Given the description of an element on the screen output the (x, y) to click on. 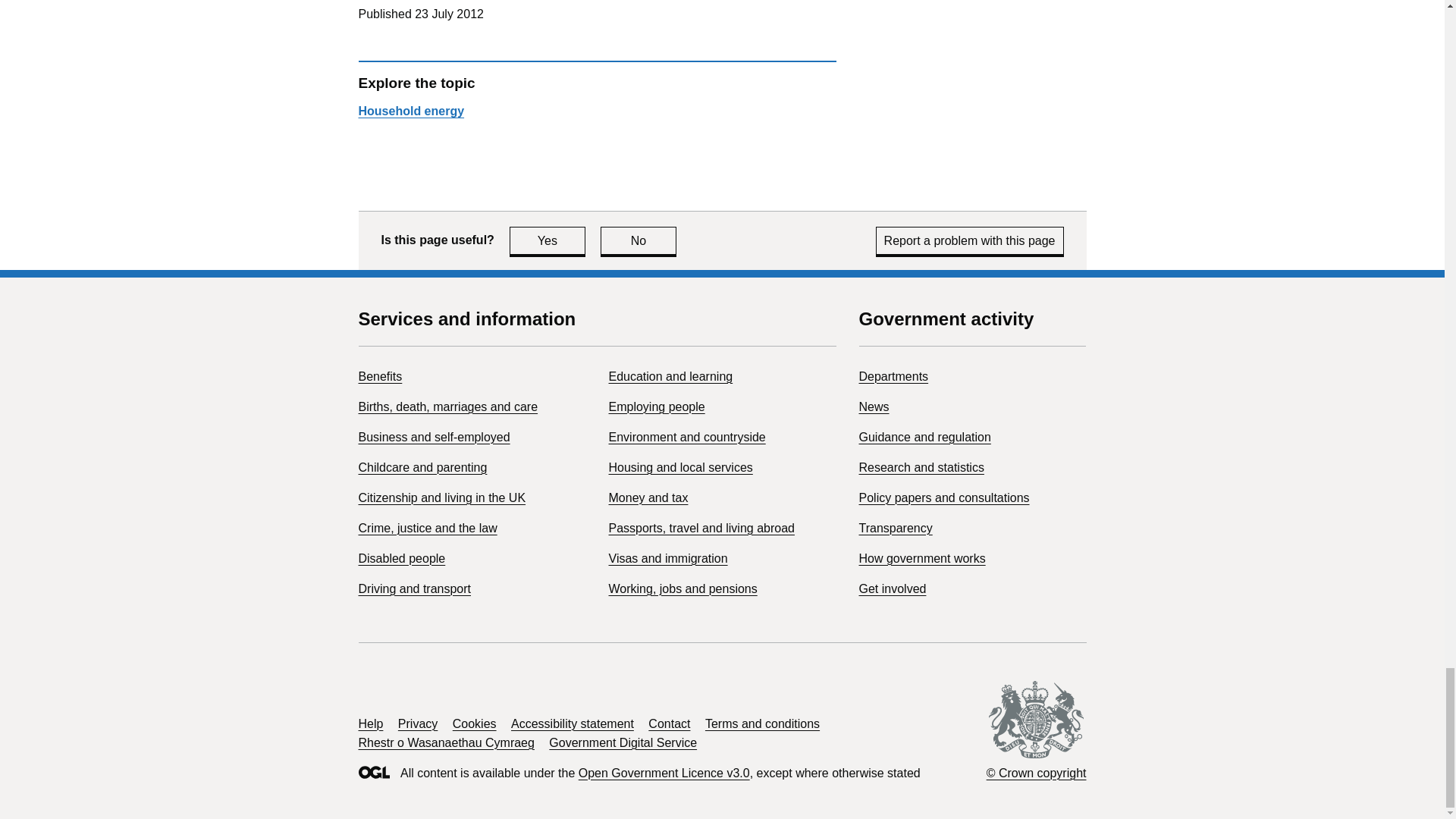
Research and statistics (921, 467)
Employing people (547, 240)
Departments (656, 406)
Disabled people (893, 376)
Working, jobs and pensions (401, 558)
Benefits (682, 588)
Get involved (379, 376)
Guidance and regulation (892, 588)
How government works (924, 436)
